Given the description of an element on the screen output the (x, y) to click on. 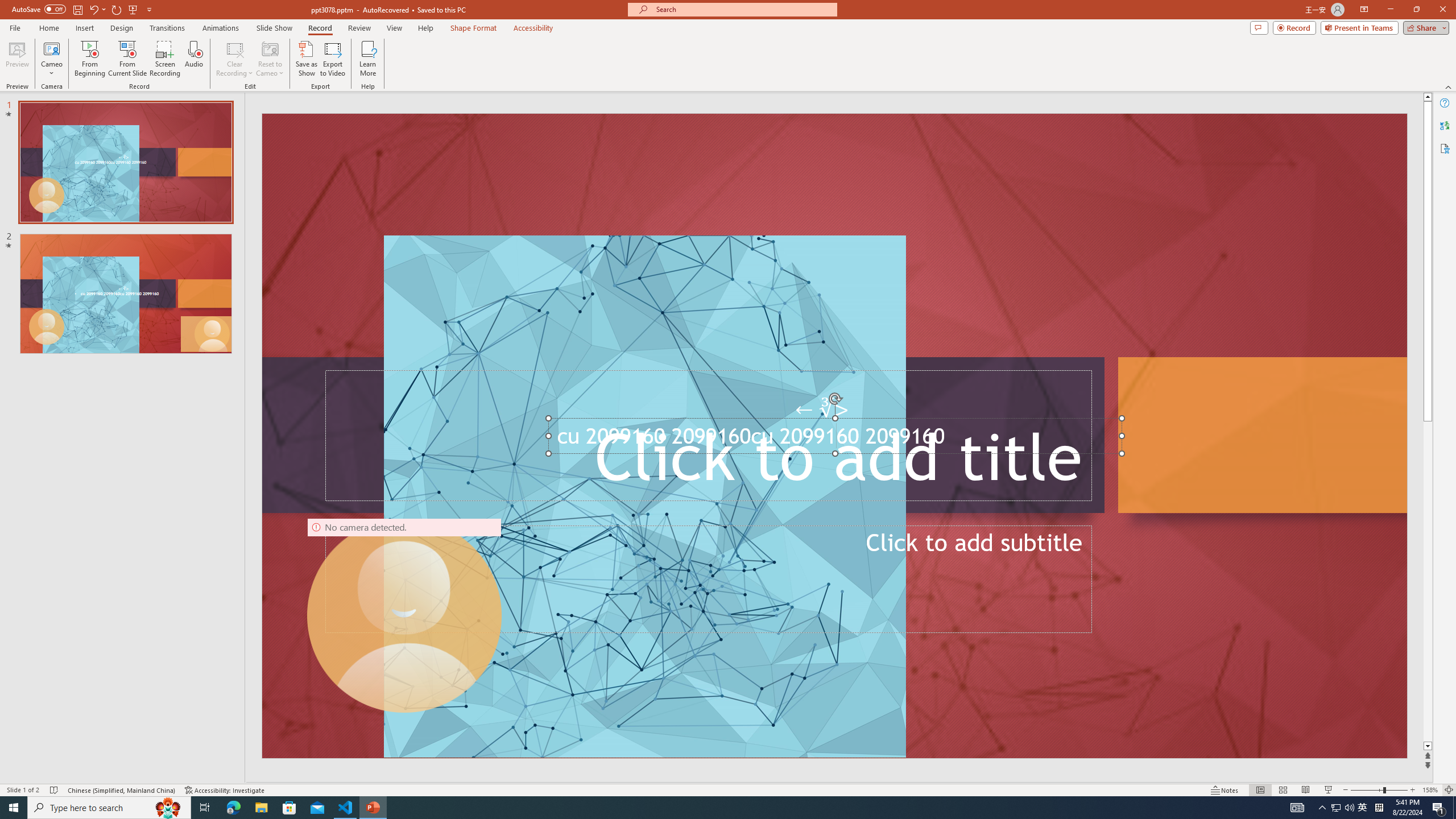
TextBox 61 (832, 438)
